Given the description of an element on the screen output the (x, y) to click on. 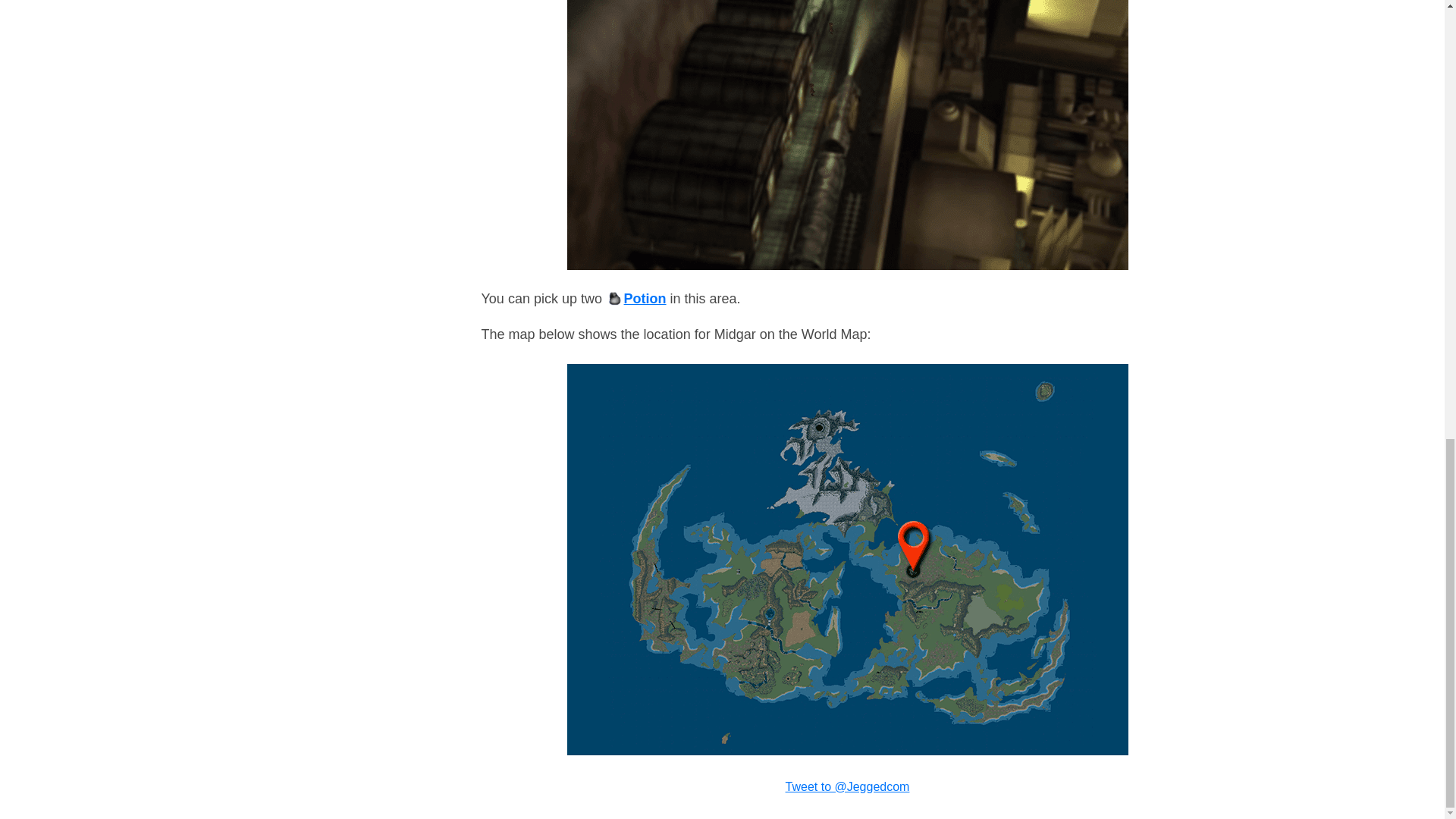
Potion (635, 298)
